Given the description of an element on the screen output the (x, y) to click on. 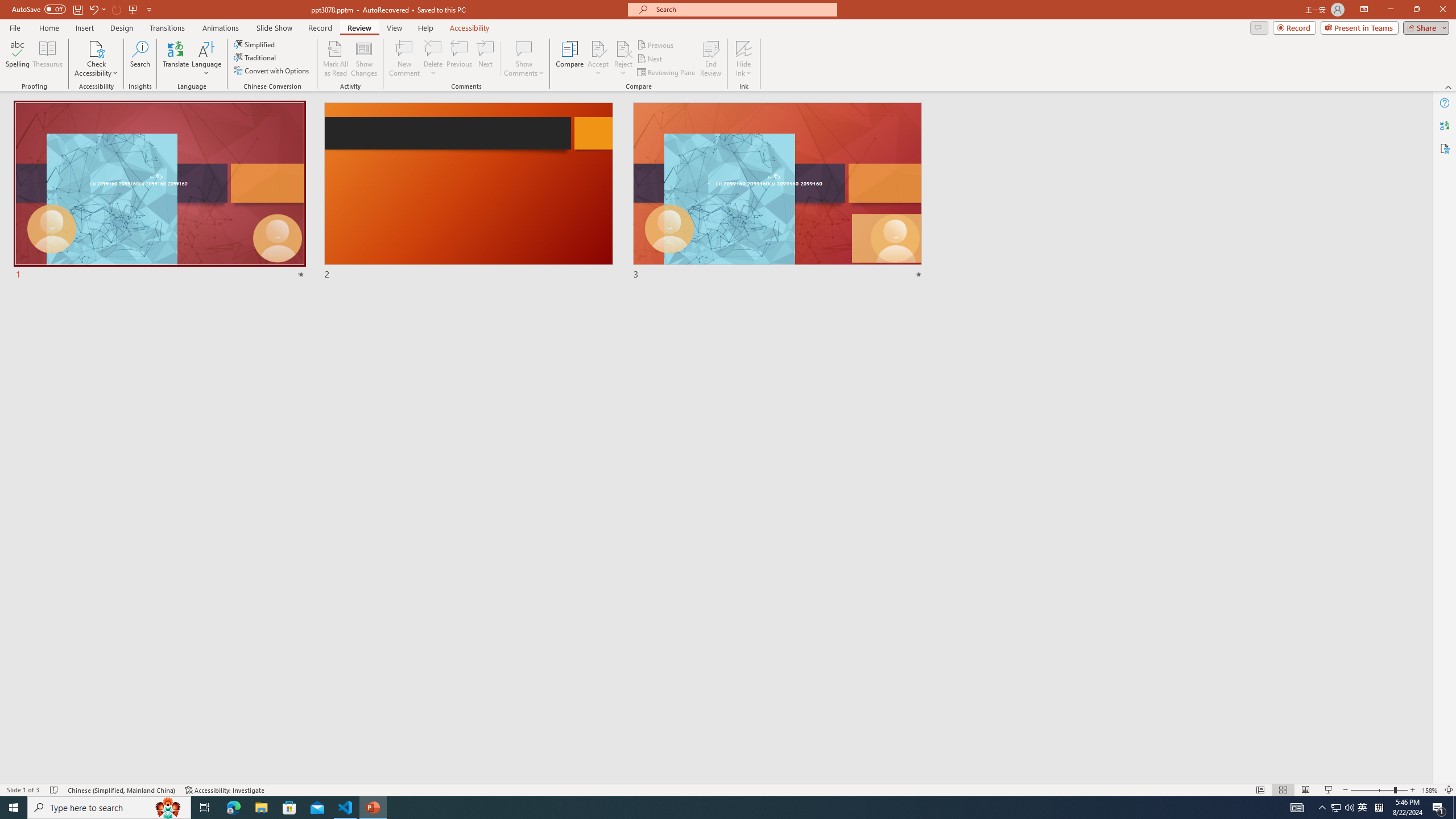
Delete (432, 58)
Next (649, 58)
Previous (655, 44)
Compare (569, 58)
Reject Change (622, 48)
Show Comments (524, 48)
